Given the description of an element on the screen output the (x, y) to click on. 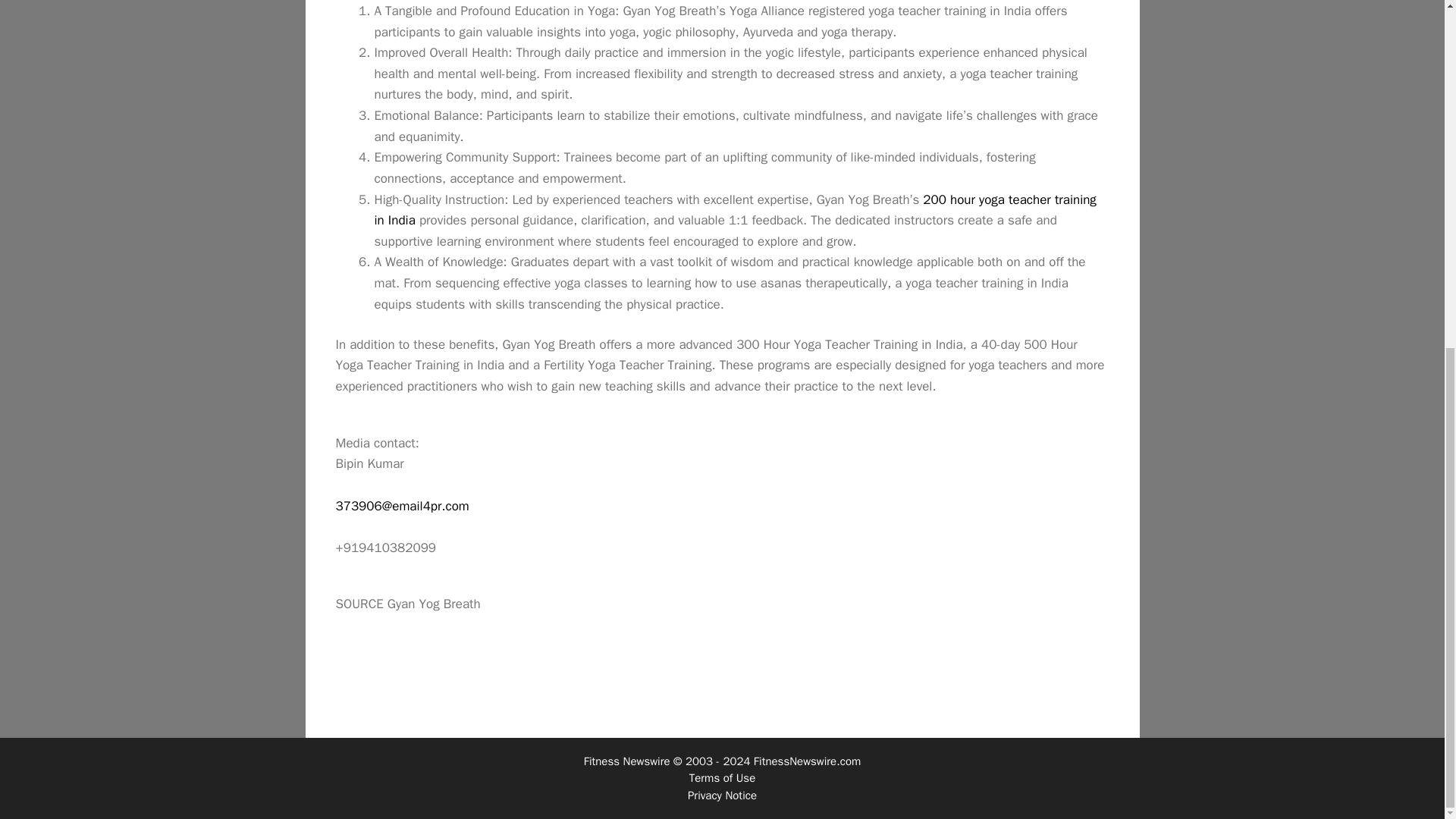
200 hour yoga teacher training in India (735, 209)
Terms of Use (721, 777)
Privacy Notice (722, 795)
